Given the description of an element on the screen output the (x, y) to click on. 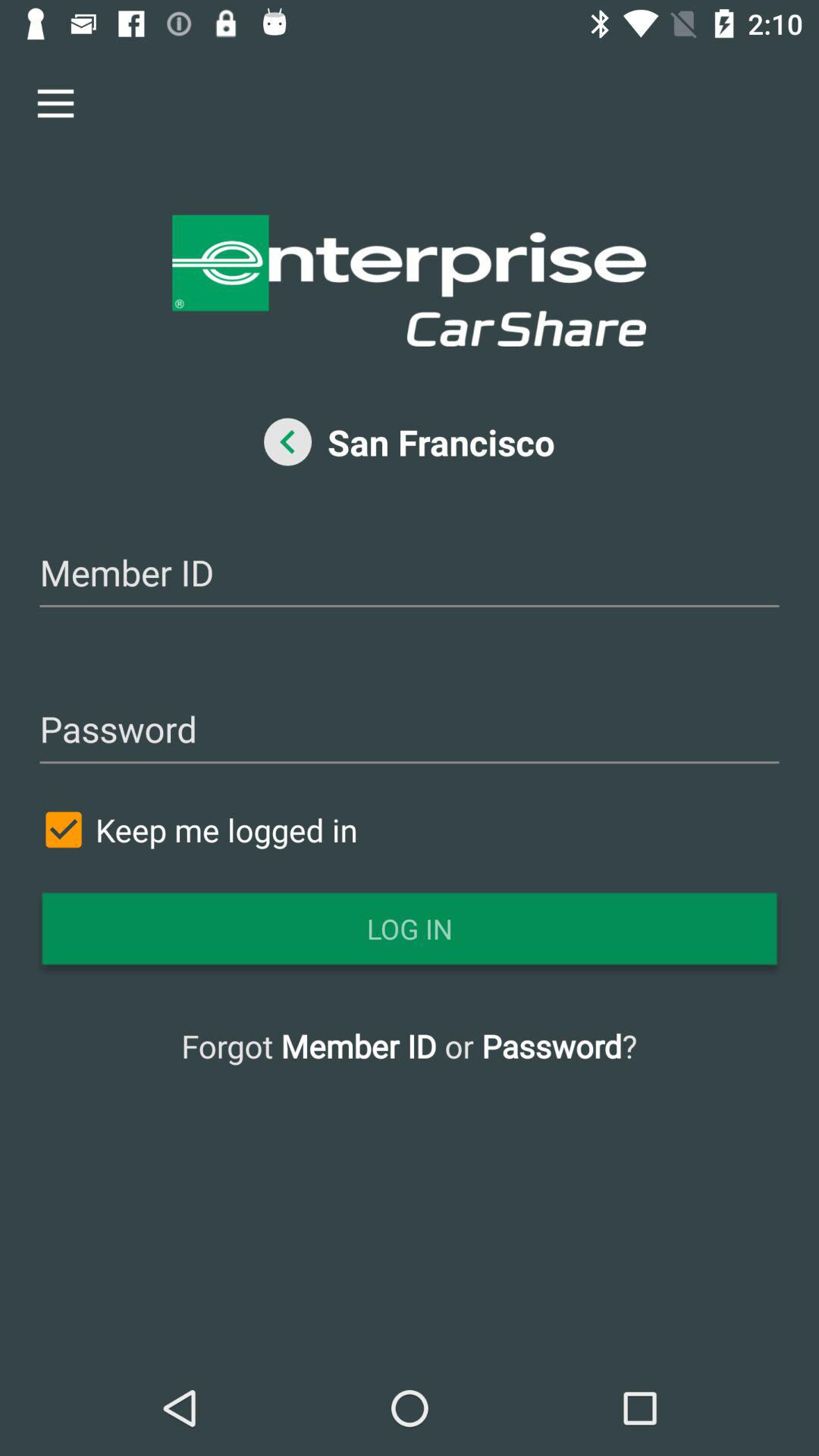
password (409, 731)
